Given the description of an element on the screen output the (x, y) to click on. 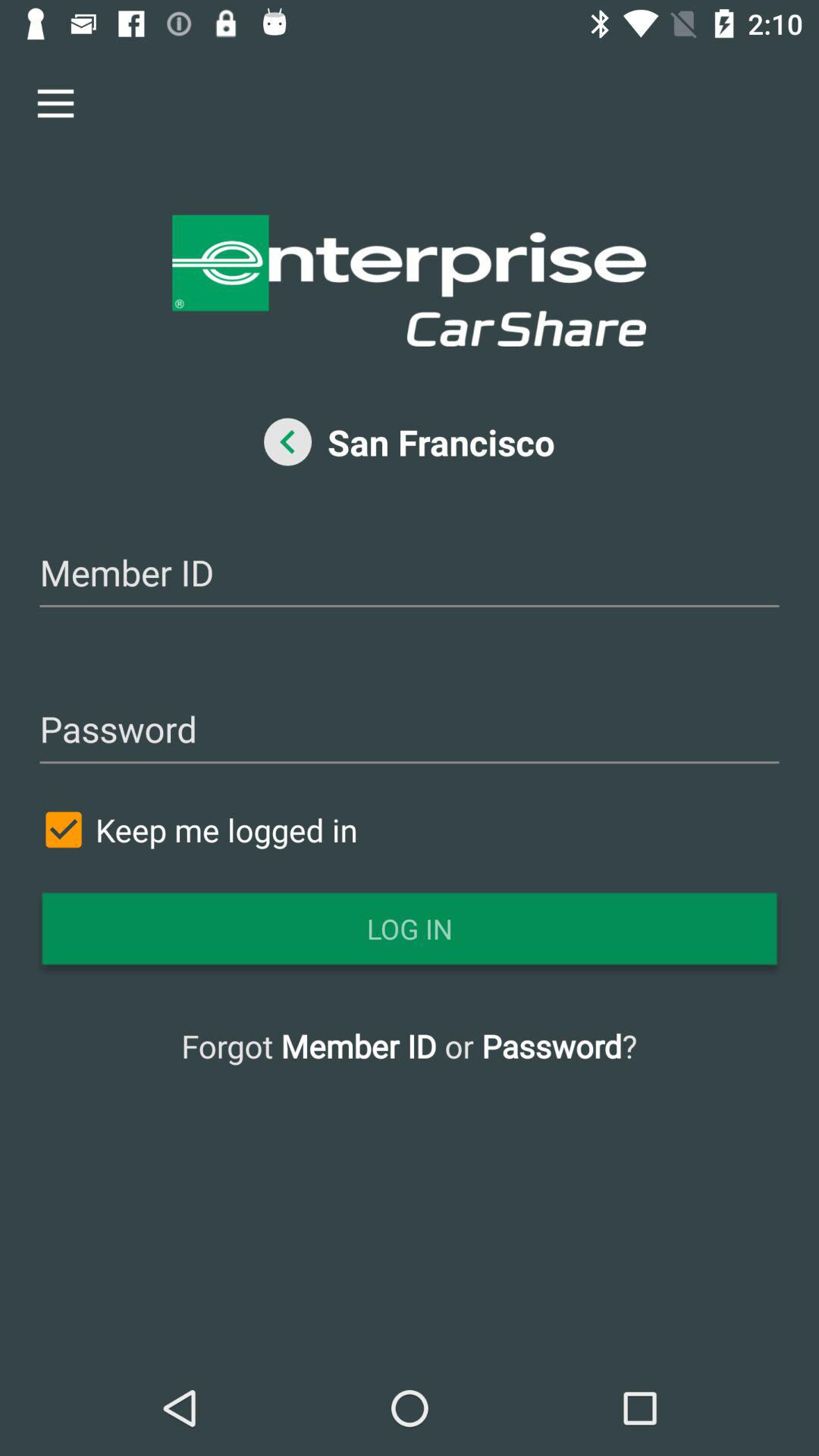
password (409, 731)
